Given the description of an element on the screen output the (x, y) to click on. 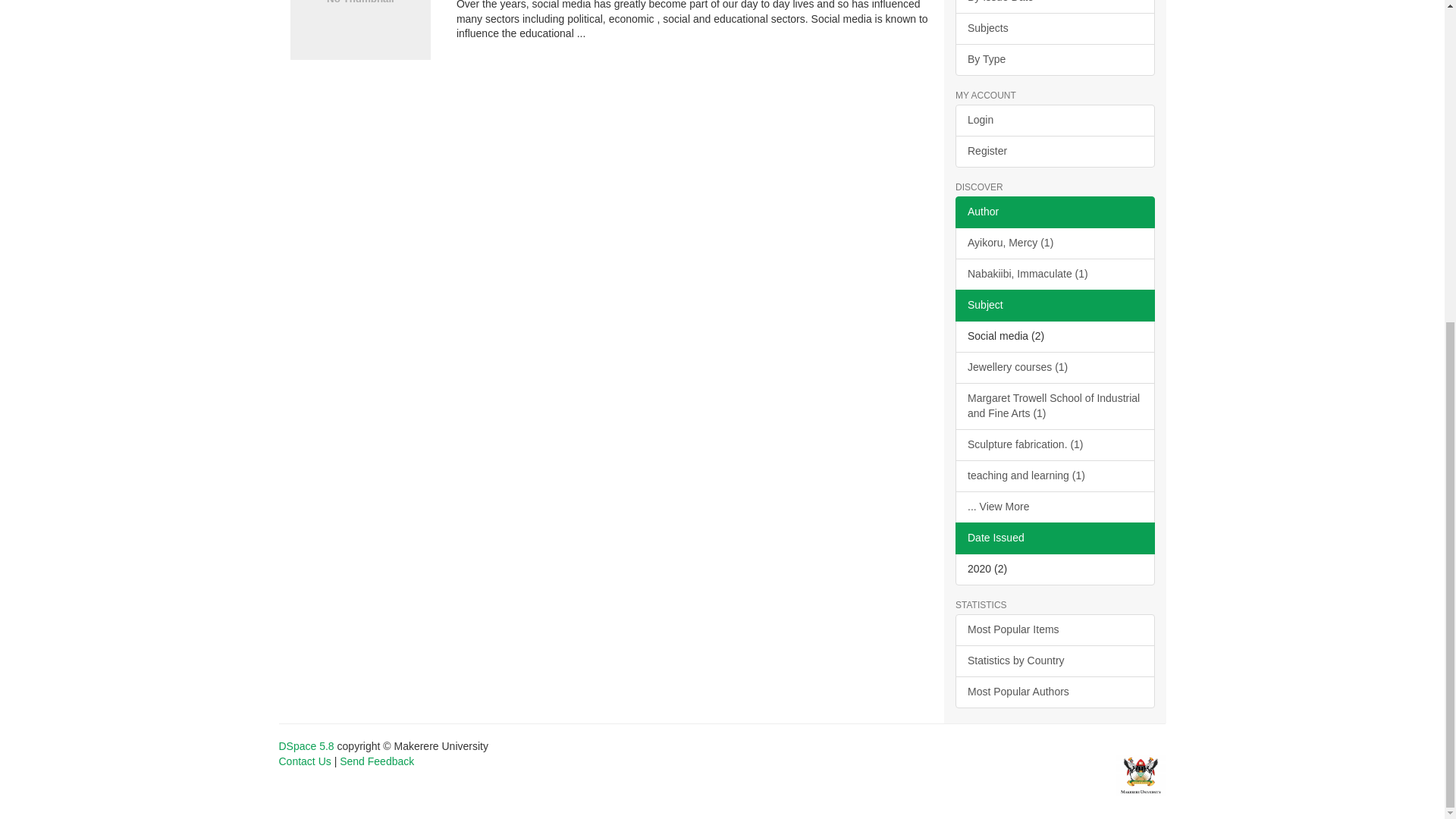
Atmire NV (1141, 775)
